Given the description of an element on the screen output the (x, y) to click on. 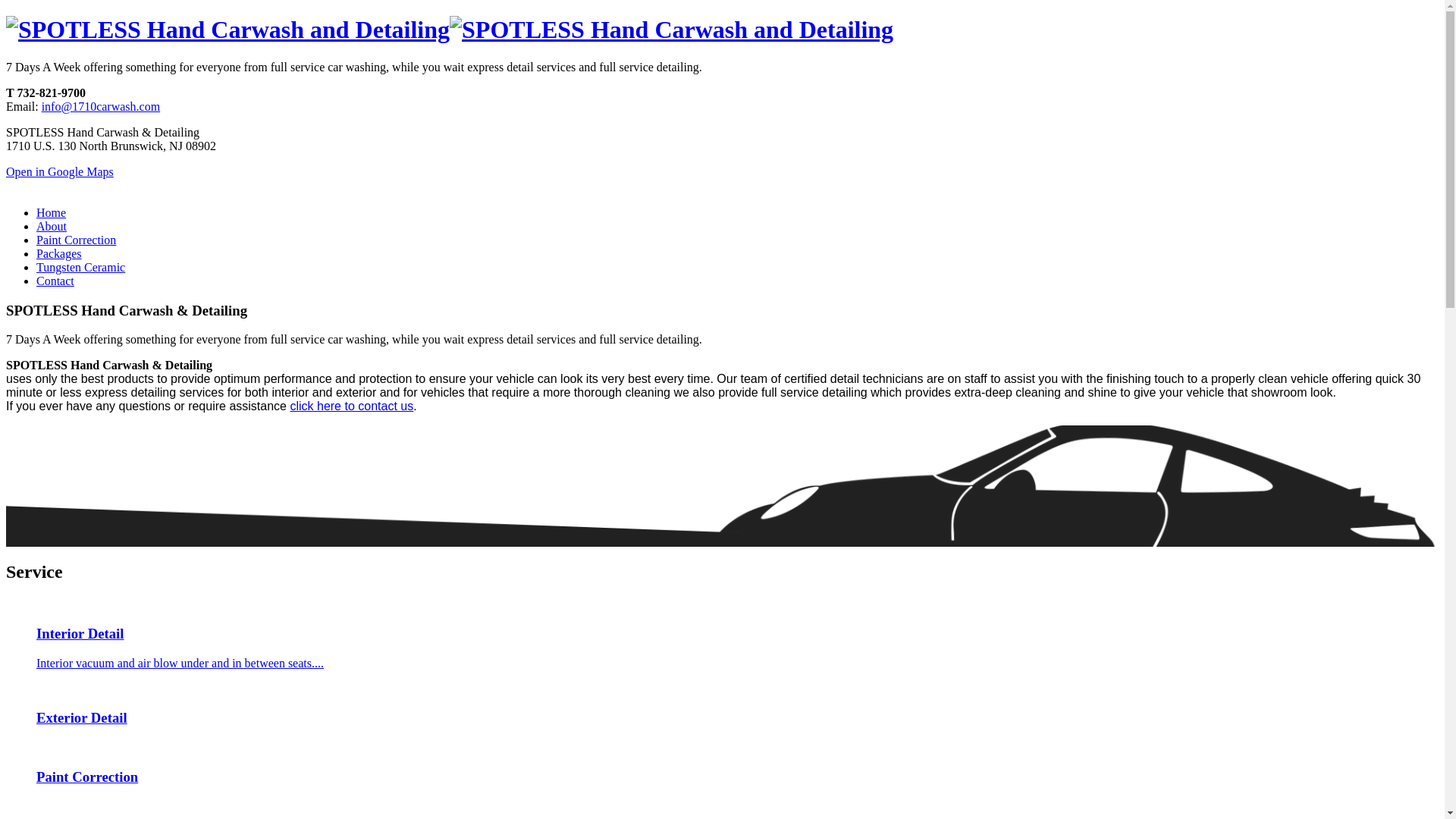
info@1710carwash.com Element type: text (100, 106)
Contact Element type: text (55, 280)
Exterior Detail Element type: text (722, 704)
About Element type: text (51, 225)
Tungsten Ceramic Element type: text (80, 266)
Exclusive environment for all your car care needs Element type: hover (227, 29)
Paint Correction Element type: text (722, 762)
Packages Element type: text (58, 253)
click here to contact us Element type: text (351, 405)
Open in Google Maps Element type: text (59, 171)
Exclusive environment for all your car care needs Element type: hover (671, 29)
Home Element type: text (50, 212)
Paint Correction Element type: text (76, 239)
